Given the description of an element on the screen output the (x, y) to click on. 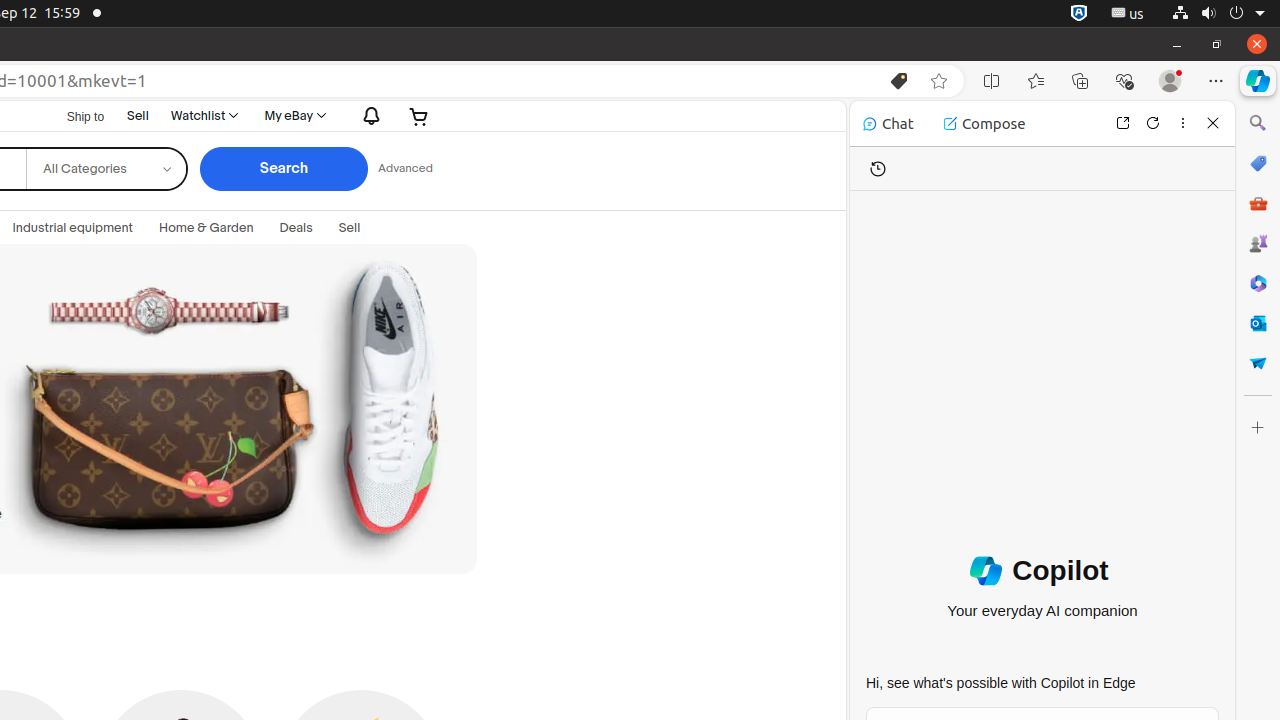
Drop Element type: push-button (1258, 363)
Outlook Element type: push-button (1258, 323)
Advanced Search Element type: link (405, 169)
Deals Element type: link (296, 228)
Compose Element type: page-tab (984, 124)
